Given the description of an element on the screen output the (x, y) to click on. 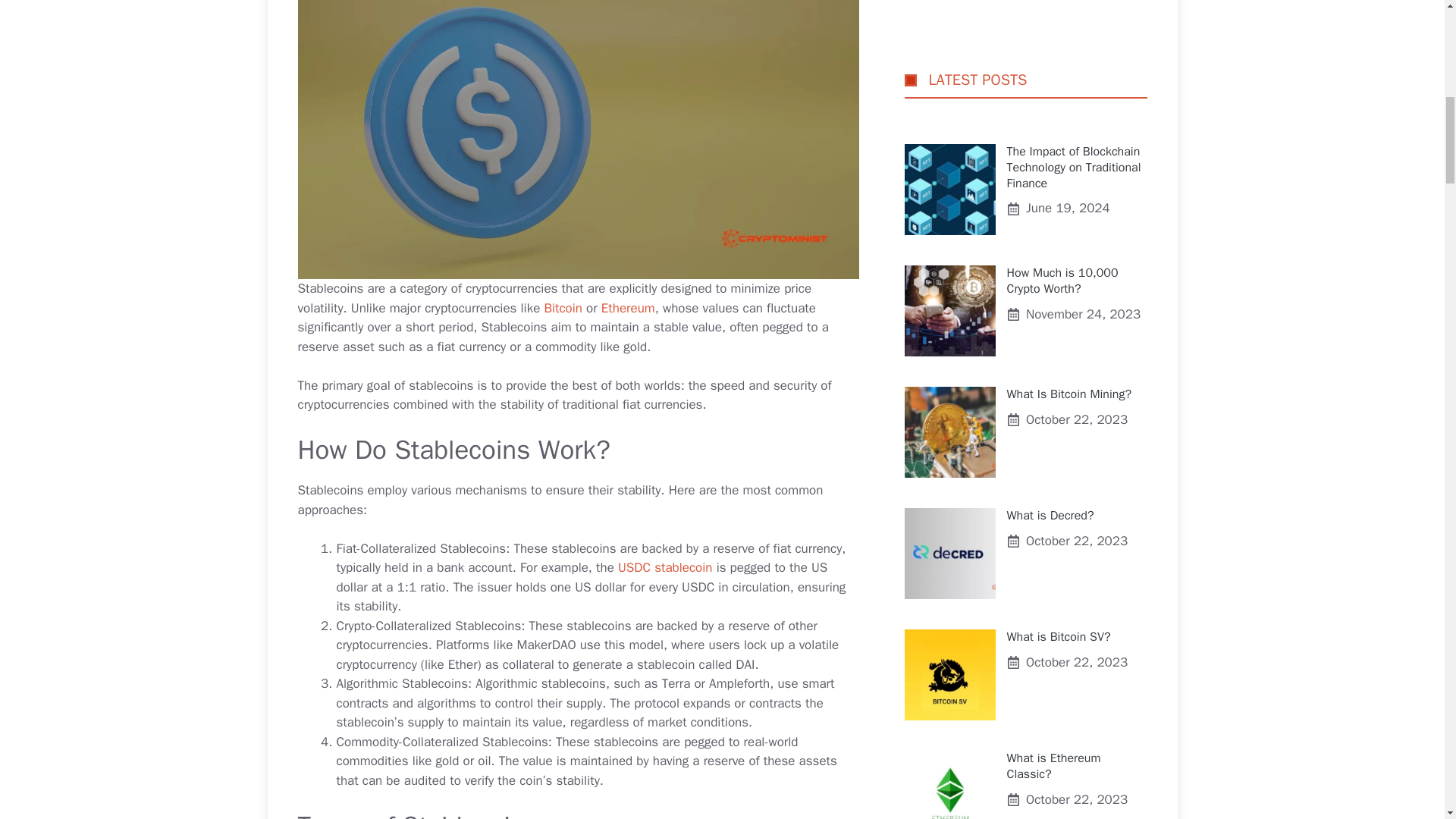
Bitcoin (562, 308)
Ethereum (628, 308)
Scroll back to top (1406, 720)
USDC stablecoin (665, 567)
